Given the description of an element on the screen output the (x, y) to click on. 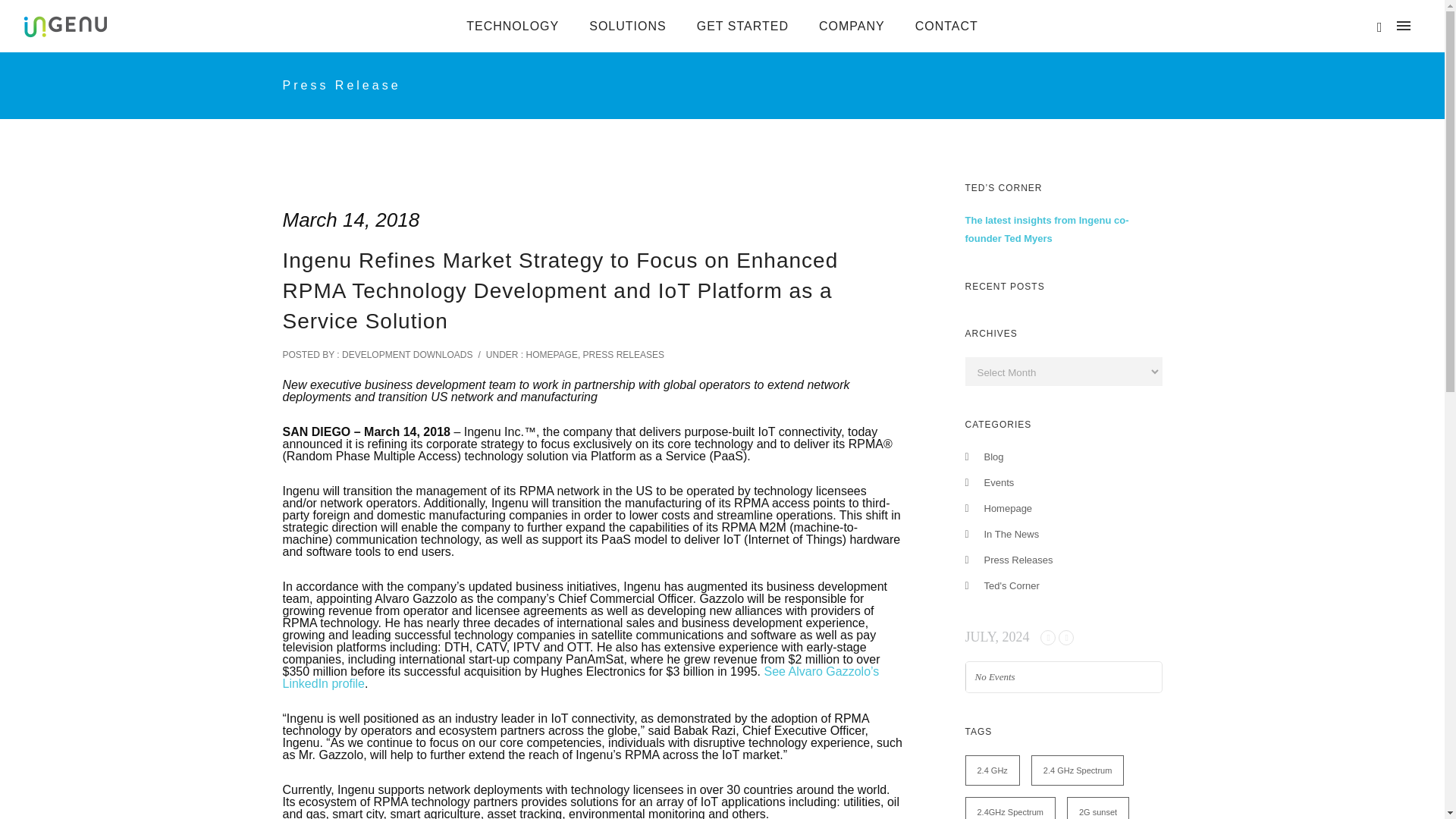
COMPANY (851, 26)
SOLUTIONS (627, 26)
TECHNOLOGY (512, 26)
GET STARTED (742, 26)
TECHNOLOGY (512, 26)
